Given the description of an element on the screen output the (x, y) to click on. 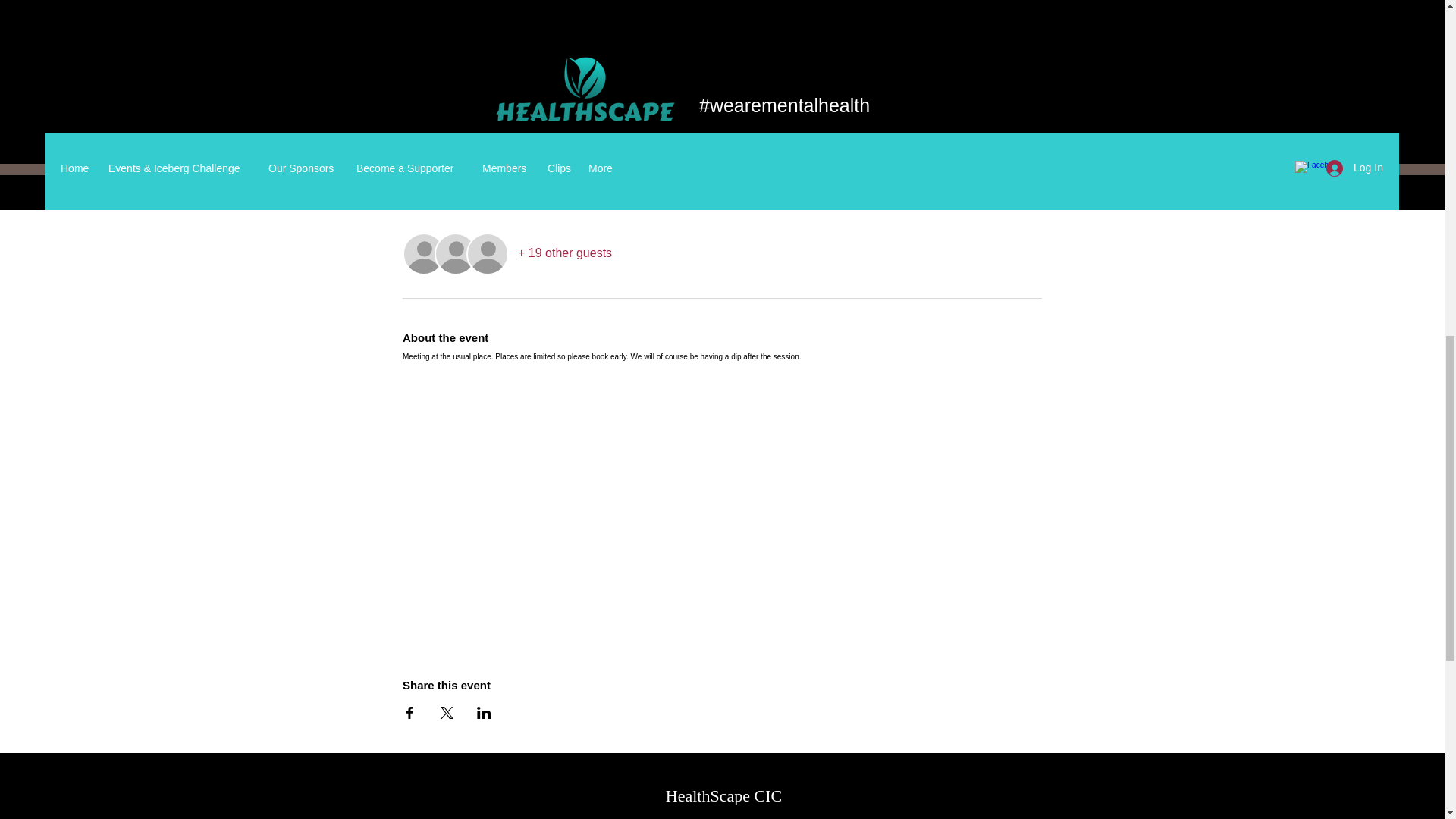
HealthScape CIC (723, 795)
